Given the description of an element on the screen output the (x, y) to click on. 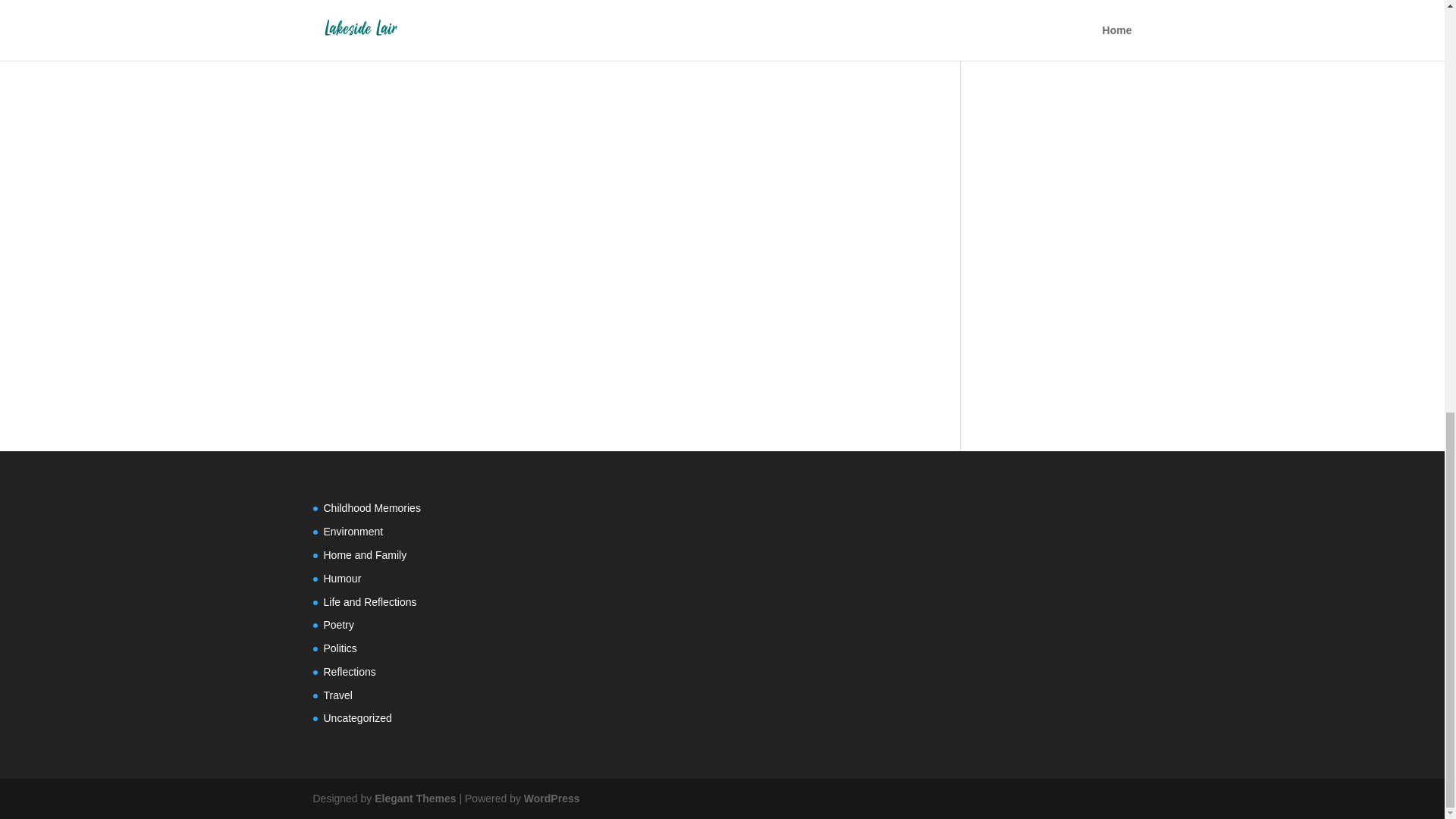
Uncategorized (357, 717)
Politics (339, 648)
Reflections (349, 671)
Childhood Memories (371, 508)
Home and Family (364, 554)
Premium WordPress Themes (414, 798)
WordPress (551, 798)
Life and Reflections (369, 602)
Elegant Themes (414, 798)
